Given the description of an element on the screen output the (x, y) to click on. 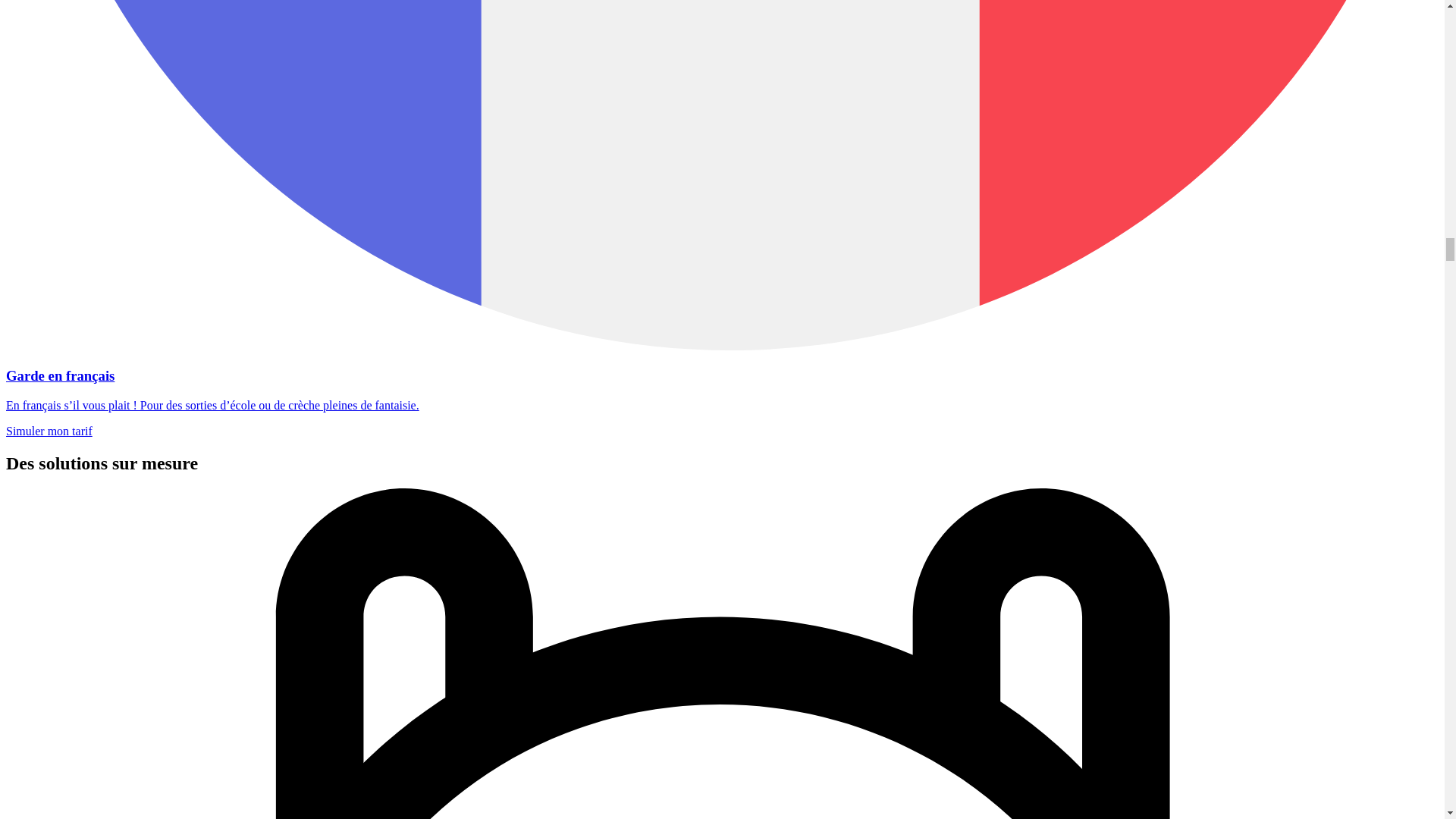
Simuler mon tarif (49, 431)
